Given the description of an element on the screen output the (x, y) to click on. 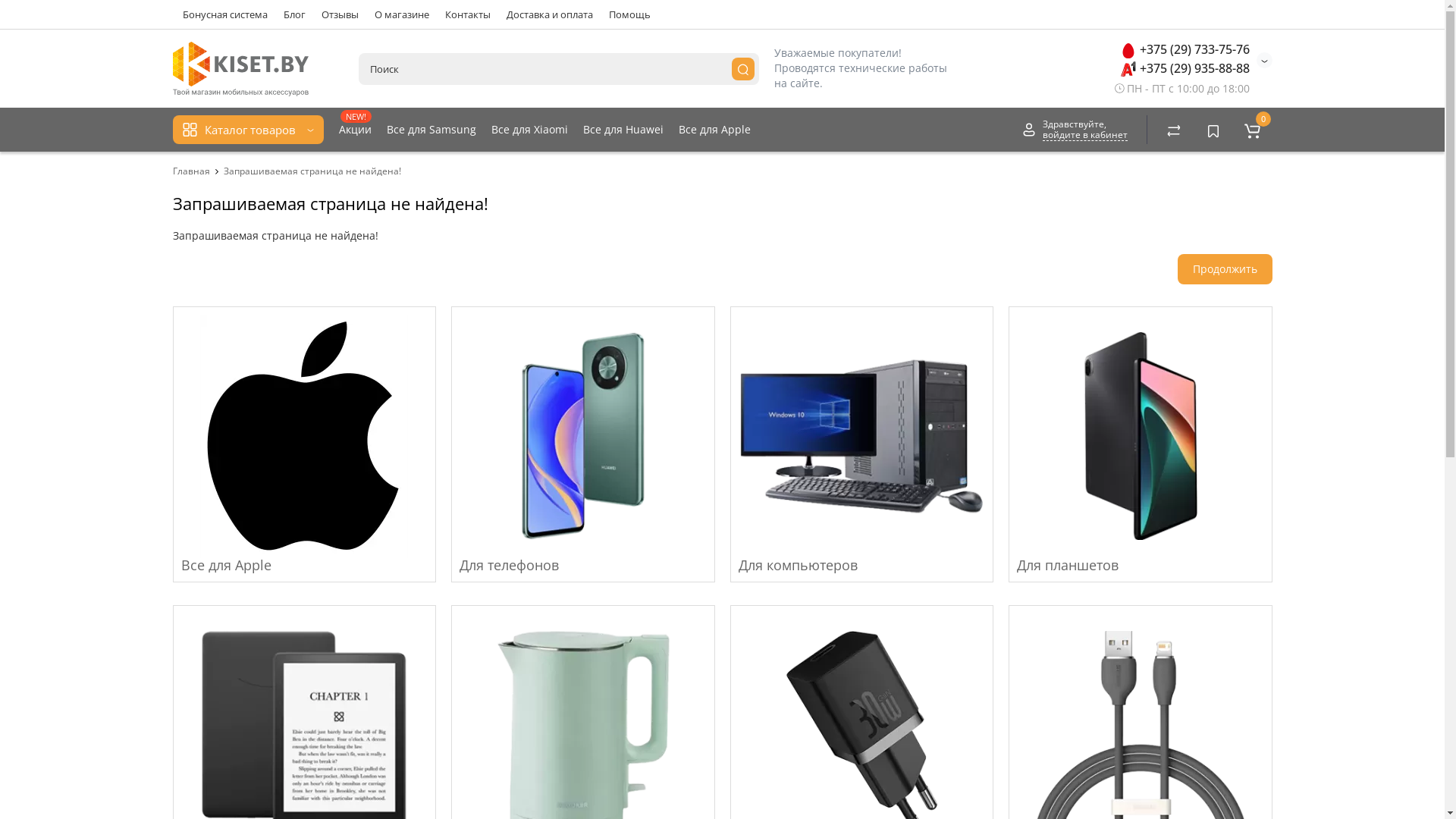
+375 (29) 935-88-88 Element type: text (1184, 67)
0 Element type: text (1252, 129)
KISET.BY Element type: hover (240, 68)
+375 (29) 733-75-76 Element type: text (1184, 48)
